Given the description of an element on the screen output the (x, y) to click on. 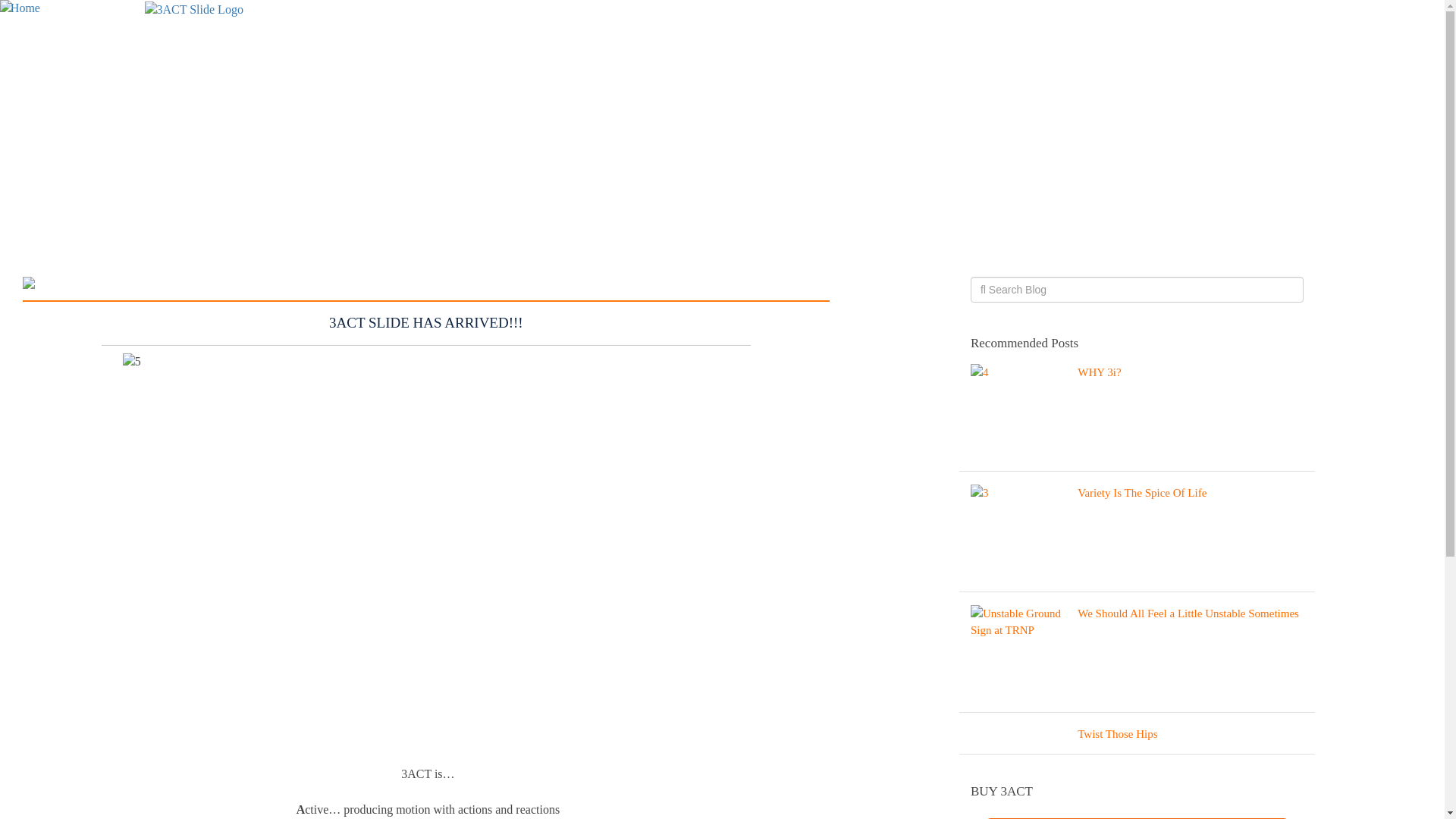
Twist Those Hips Element type: text (1136, 737)
Variety Is The Spice Of Life Element type: text (1136, 535)
WHY 3i? Element type: text (1136, 414)
We Should All Feel a Little Unstable Sometimes Element type: text (1136, 655)
  Home Element type: text (20, 7)
